Given the description of an element on the screen output the (x, y) to click on. 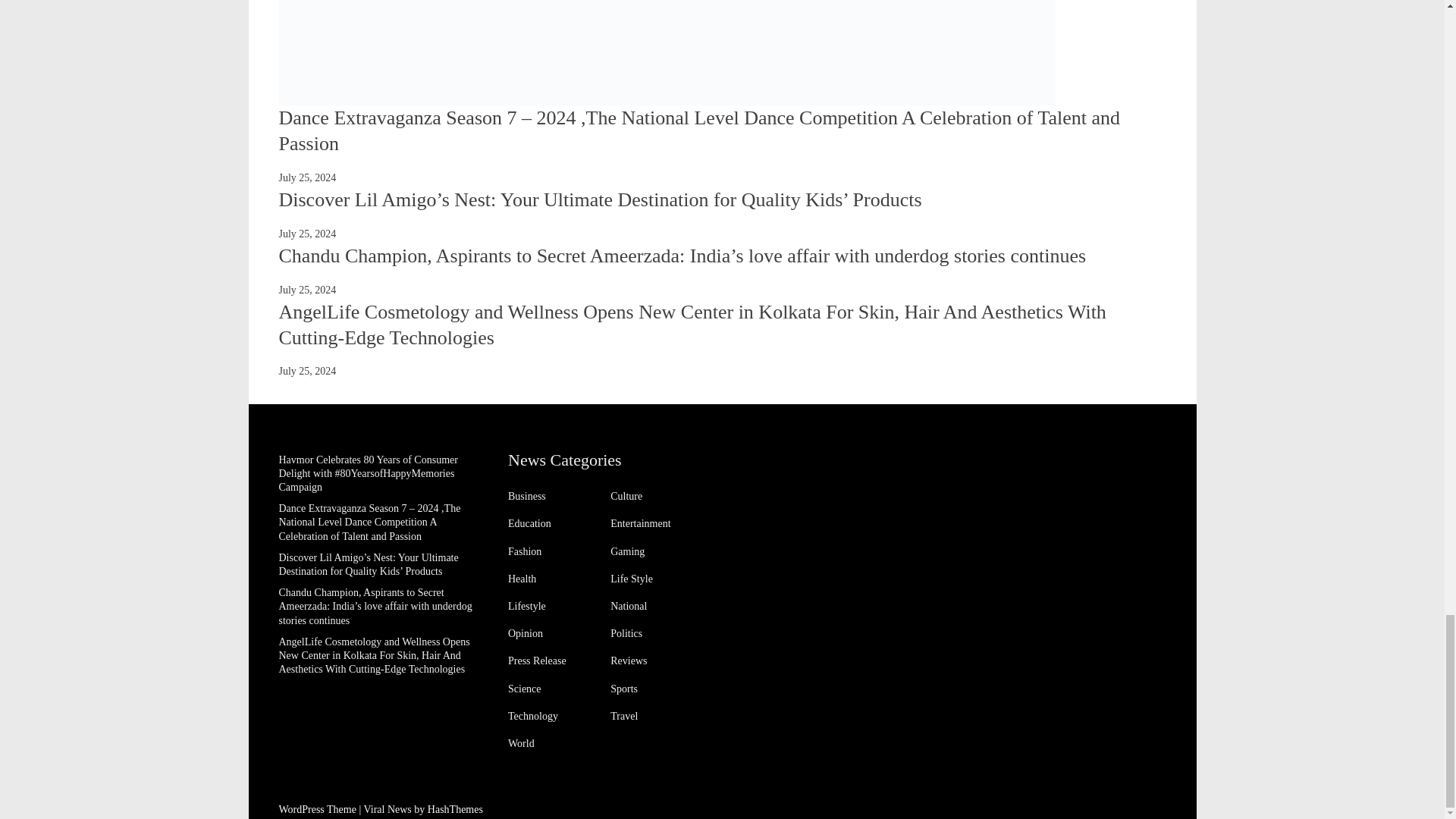
Download Viral News (388, 808)
